Given the description of an element on the screen output the (x, y) to click on. 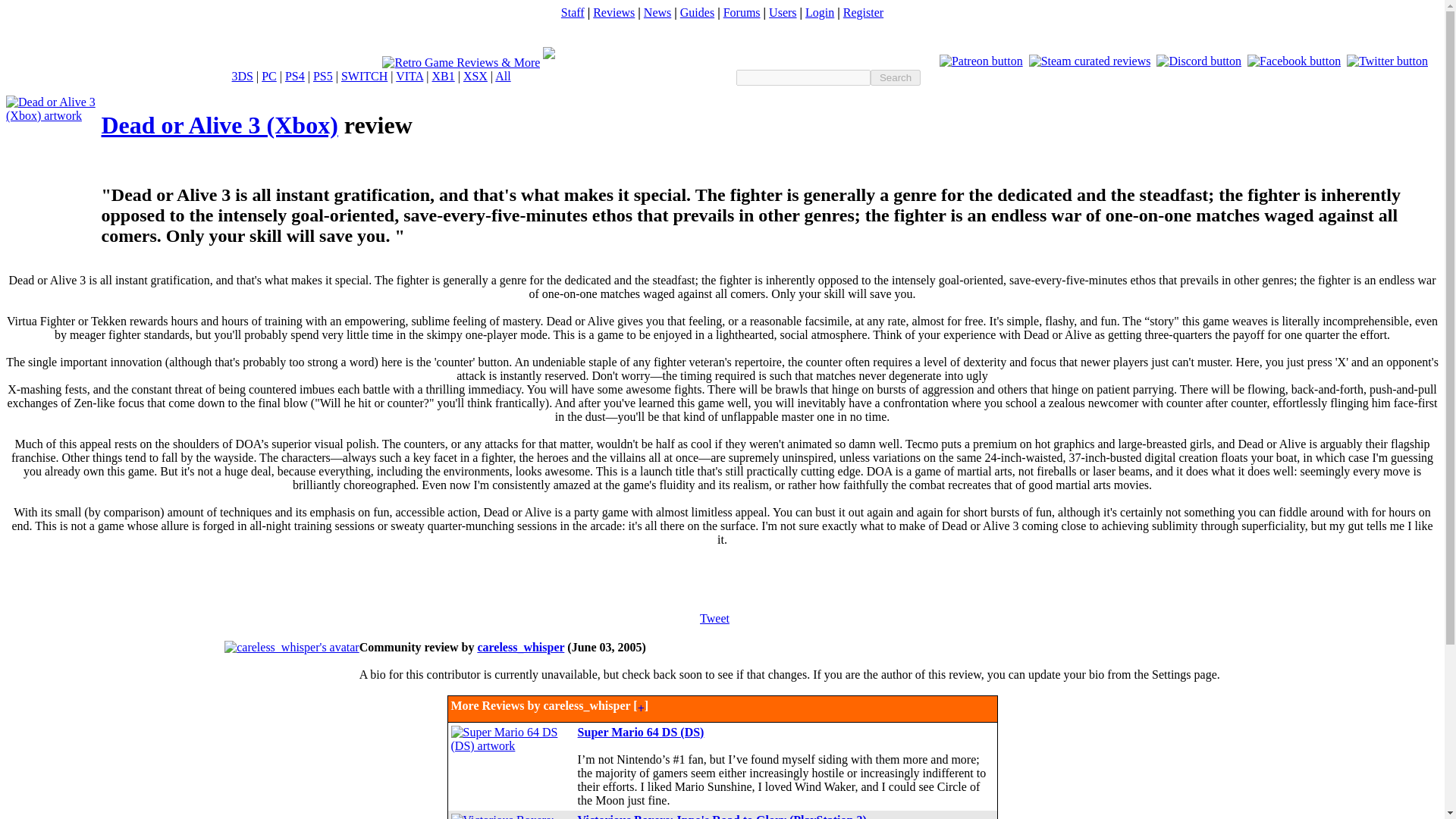
Tweet (714, 617)
User features (782, 11)
Forums (741, 11)
Register (863, 11)
XSX (475, 75)
News (657, 11)
All (503, 75)
Reviews (613, 11)
Users (782, 11)
HonestGamers homepage (460, 62)
PS5 (323, 75)
 Search  (895, 77)
Sign in to your HonestGamers account (819, 11)
3DS (242, 75)
Get to know us on the HonestGamers Discord server (1198, 60)
